Given the description of an element on the screen output the (x, y) to click on. 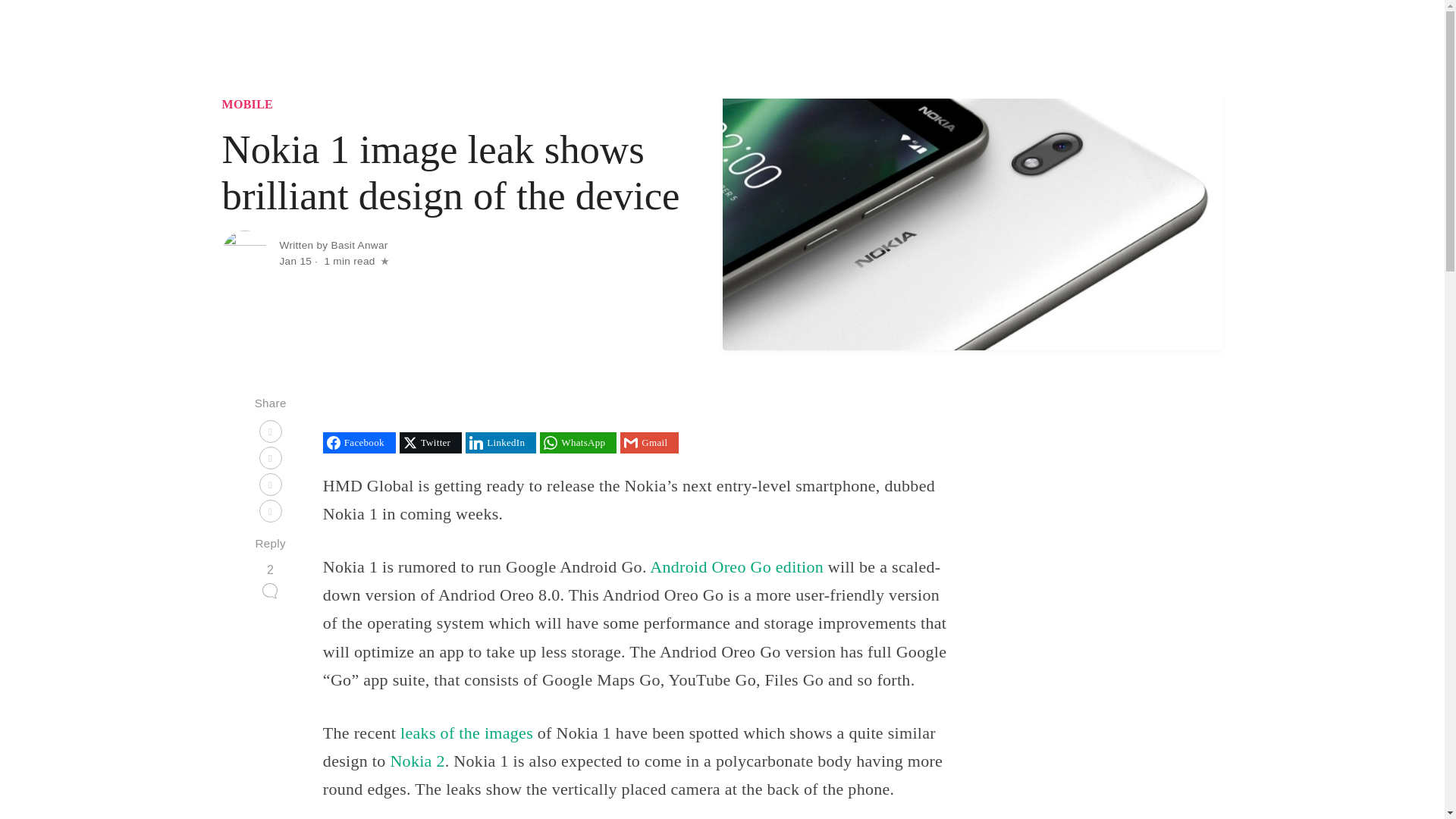
Share on Twitter (429, 442)
Mobile (972, 49)
Online Earning (1116, 49)
Share on WhatsApp (577, 442)
Writers (1192, 49)
Investment (1037, 49)
Technology (849, 49)
Twitter (429, 442)
Share on Gmail (649, 442)
MOBILE (247, 103)
